Given the description of an element on the screen output the (x, y) to click on. 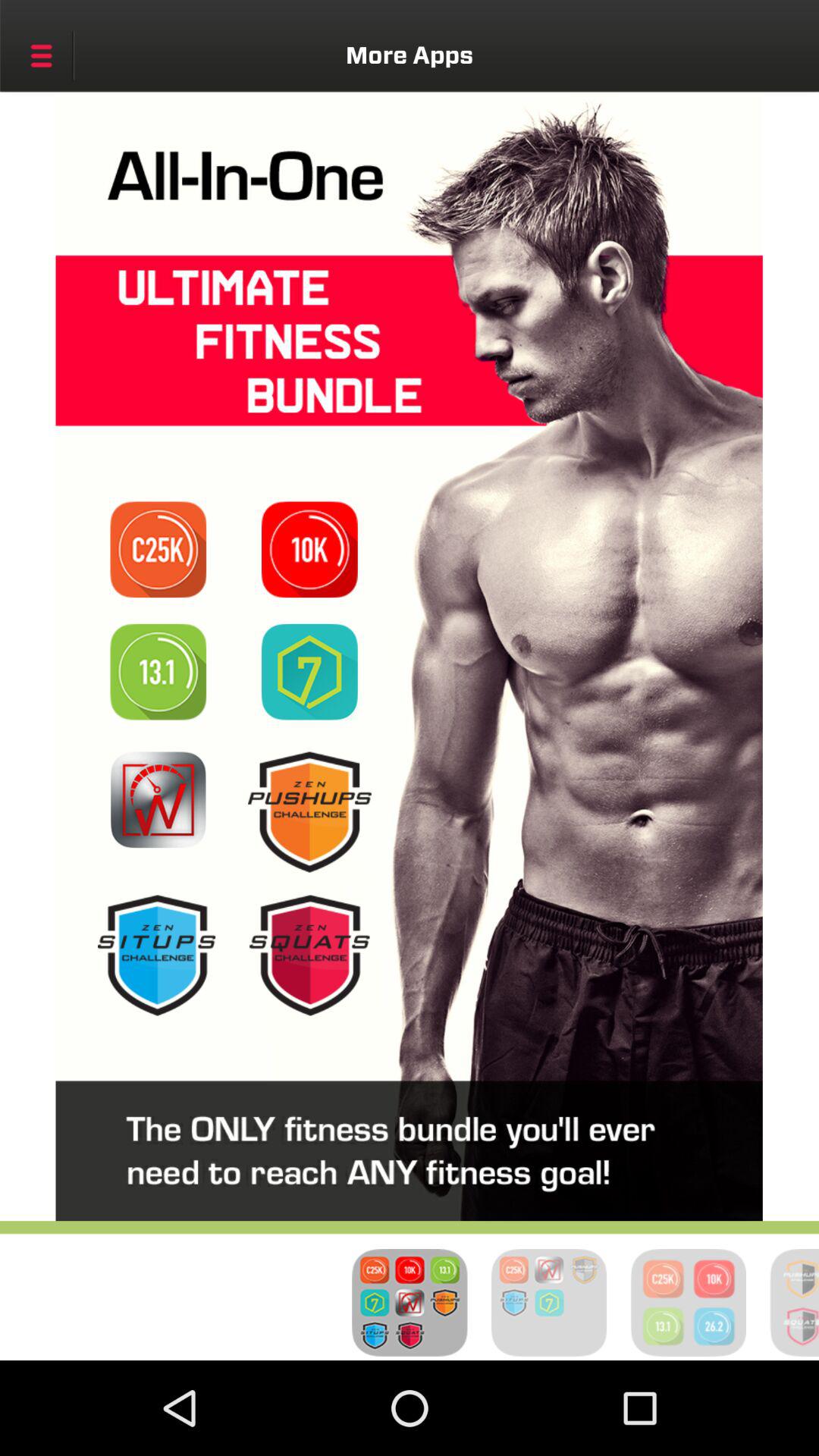
open menu (40, 55)
